Given the description of an element on the screen output the (x, y) to click on. 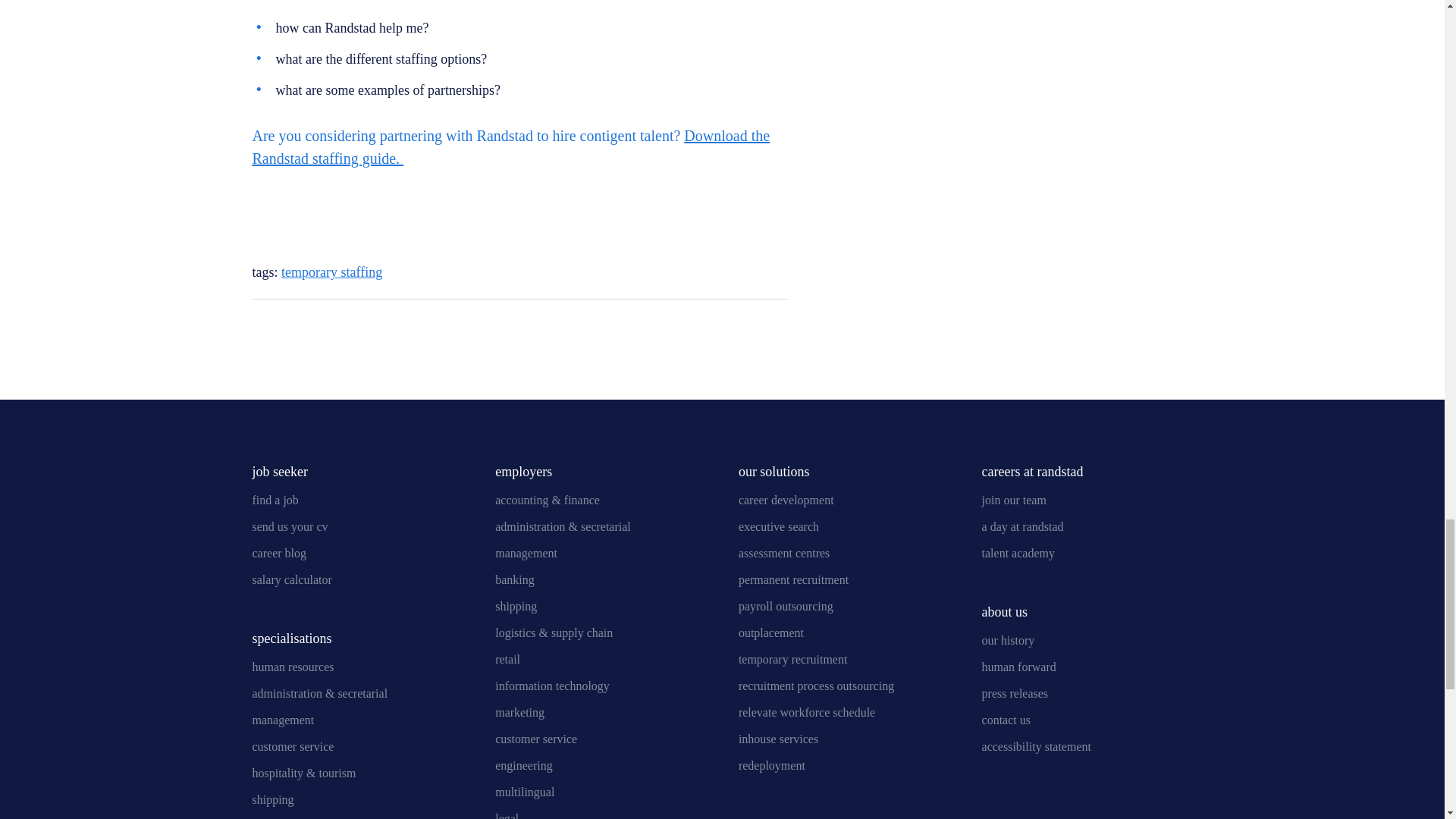
email this article (258, 329)
print this article (289, 329)
accessibility statement (1035, 746)
share this article on linkedin (695, 326)
share this article on facebook (774, 326)
share this article on twitter (735, 326)
